Given the description of an element on the screen output the (x, y) to click on. 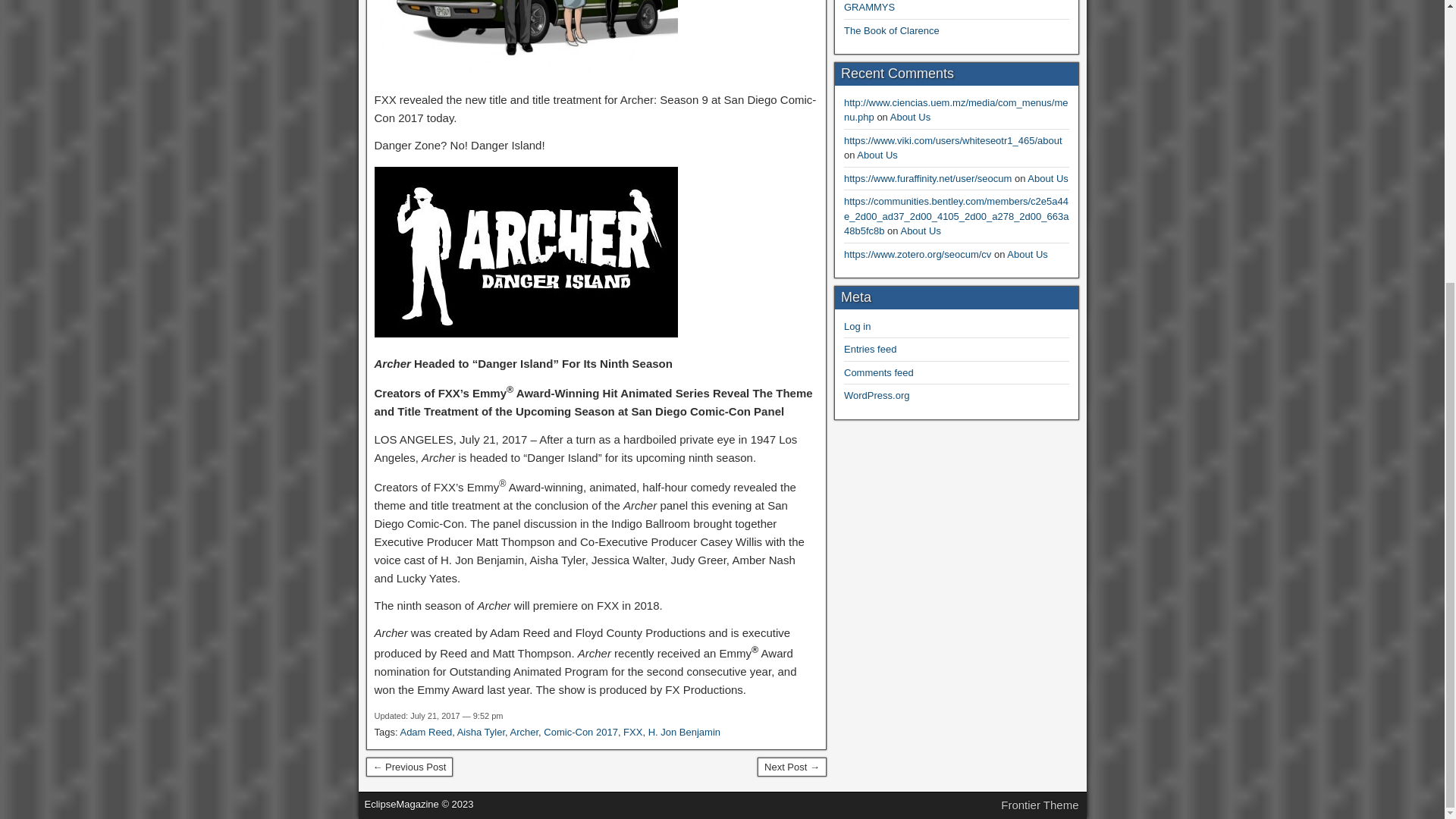
Aisha Tyler (481, 731)
Comic-Con 2017 (580, 731)
About Us (909, 116)
About Us (876, 154)
H. Jon Benjamin (683, 731)
Adam Reed (424, 731)
Archer (524, 731)
THE DPA MUSIC LOUNGE IN HONOR OF THE GRAMMYS (949, 6)
The Book of Clarence (891, 30)
It's Just a City - The Defenders' SDCC 2017 Trailer! (792, 767)
FXX (632, 731)
About Us (1047, 178)
